Given the description of an element on the screen output the (x, y) to click on. 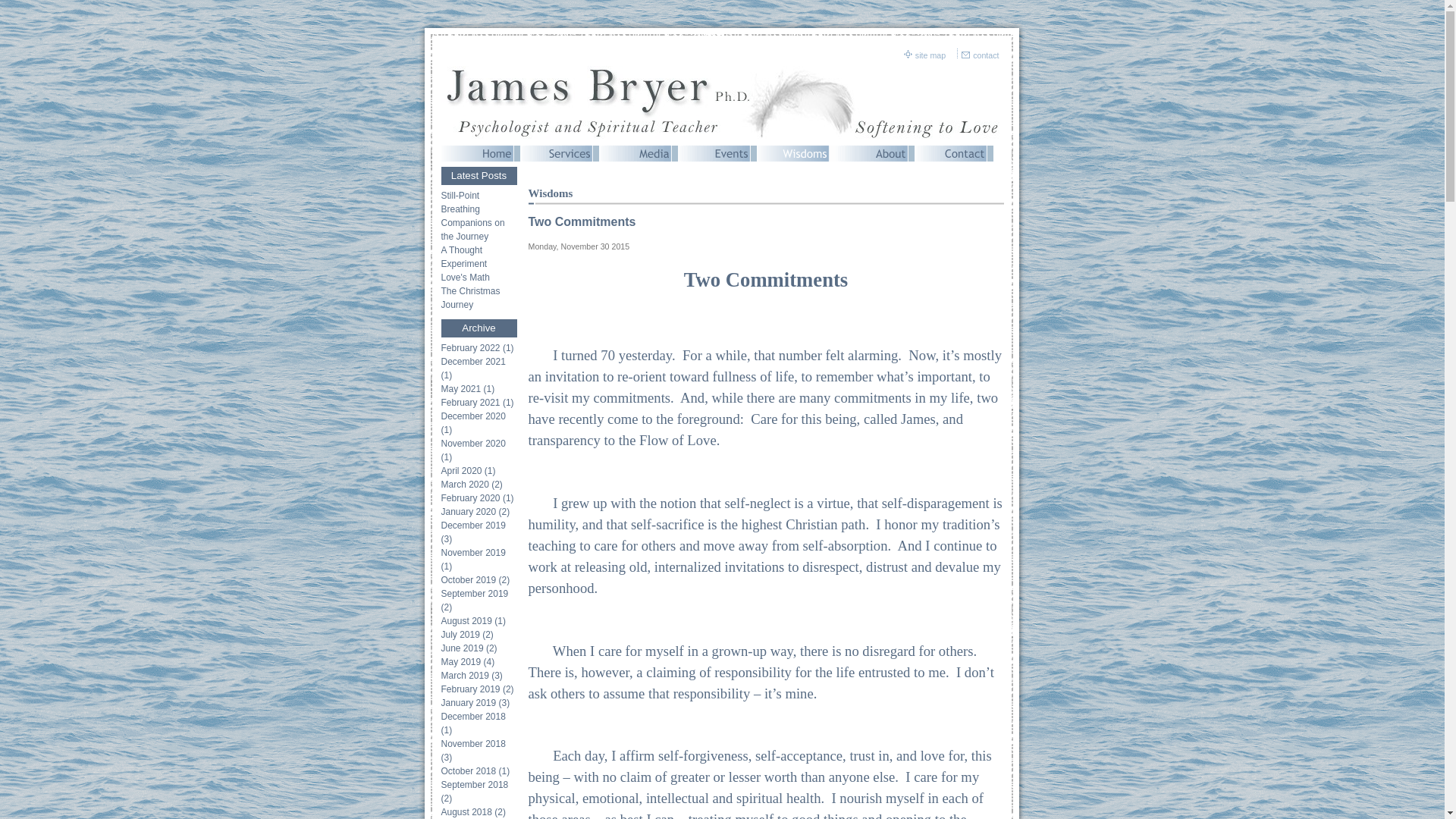
site map (931, 55)
Love's Math (478, 277)
contact (986, 55)
Companions on the Journey (478, 229)
The Christmas Journey (478, 298)
A Thought Experiment (478, 257)
Still-Point Breathing (478, 202)
